Given the description of an element on the screen output the (x, y) to click on. 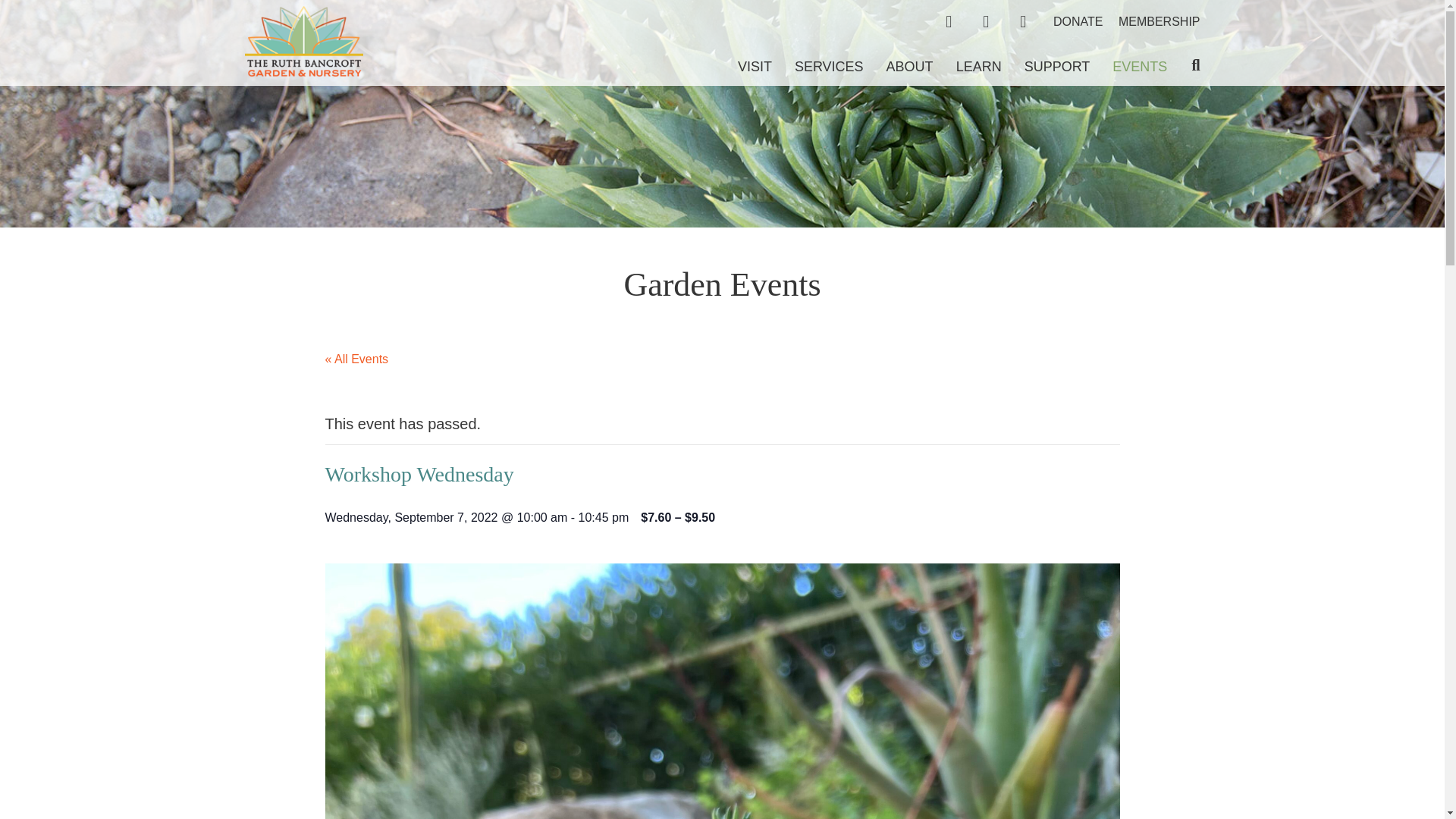
My Account (986, 21)
DONATE (1077, 21)
SERVICES (817, 66)
Shop (949, 21)
VISIT (742, 66)
cart (1023, 21)
MEMBERSHIP (1158, 21)
Search (1183, 64)
